Given the description of an element on the screen output the (x, y) to click on. 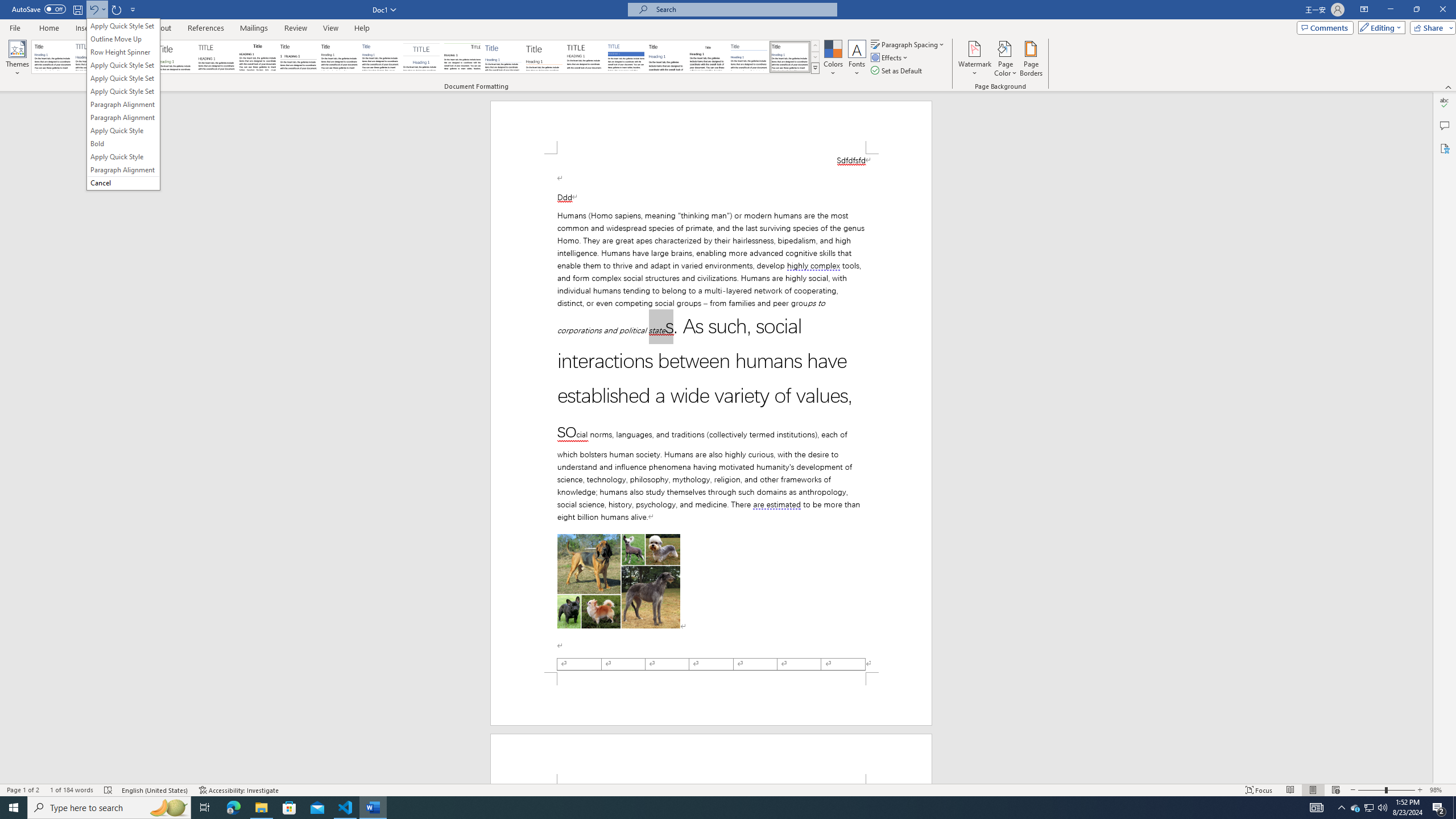
Black & White (Classic) (257, 56)
Black & White (Capitalized) (216, 56)
Set as Default (897, 69)
Paragraph Spacing (908, 44)
